Given the description of an element on the screen output the (x, y) to click on. 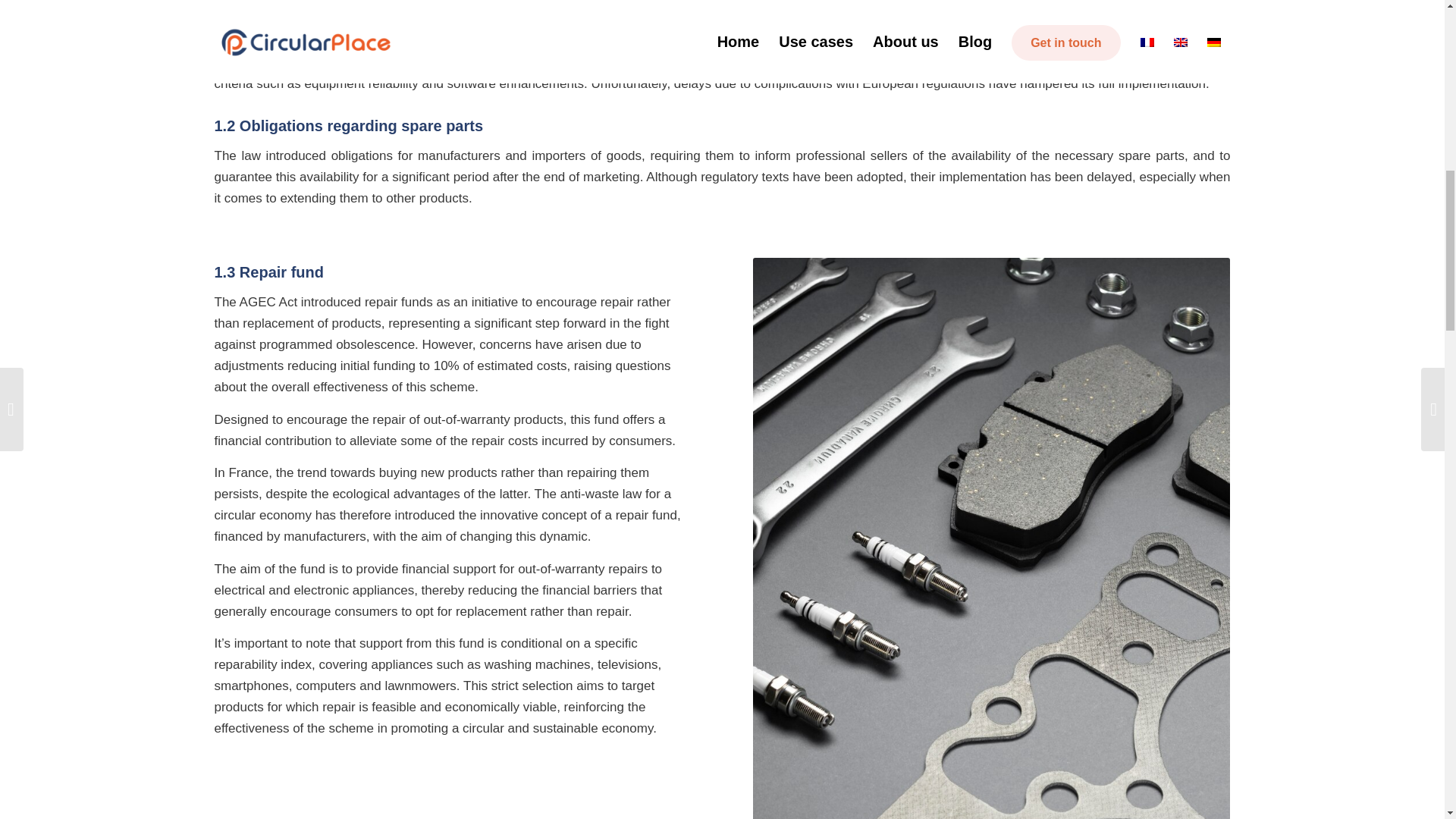
repairability and durability index (327, 41)
